Given the description of an element on the screen output the (x, y) to click on. 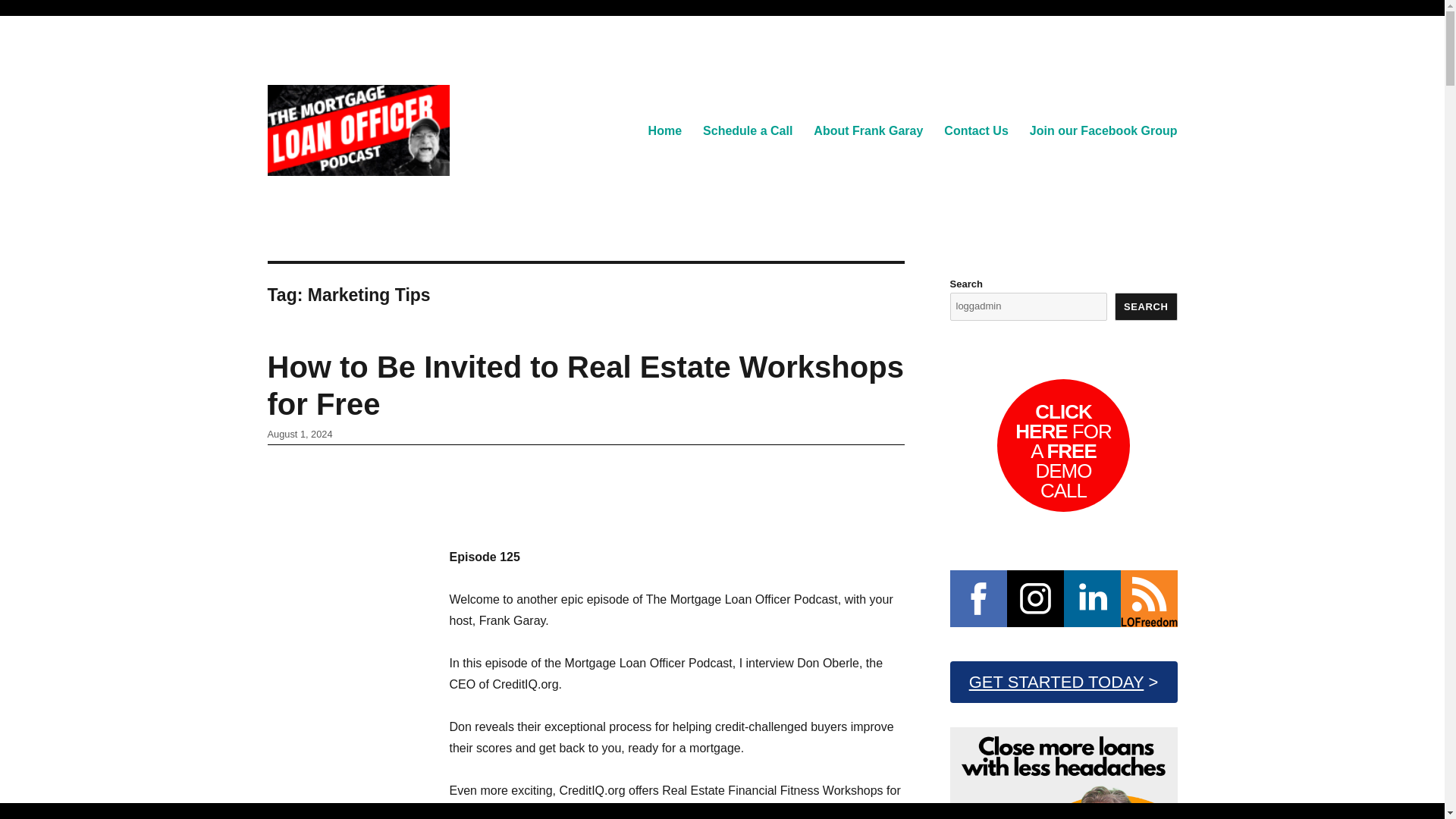
About Frank Garay (868, 130)
Libsyn Player (676, 491)
Home (665, 130)
Mortgage Loan Officer Podcast (423, 199)
Schedule a Call (748, 130)
How to Be Invited to Real Estate Workshops for Free (584, 385)
Join our Facebook Group (1103, 130)
Contact Us (975, 130)
